Given the description of an element on the screen output the (x, y) to click on. 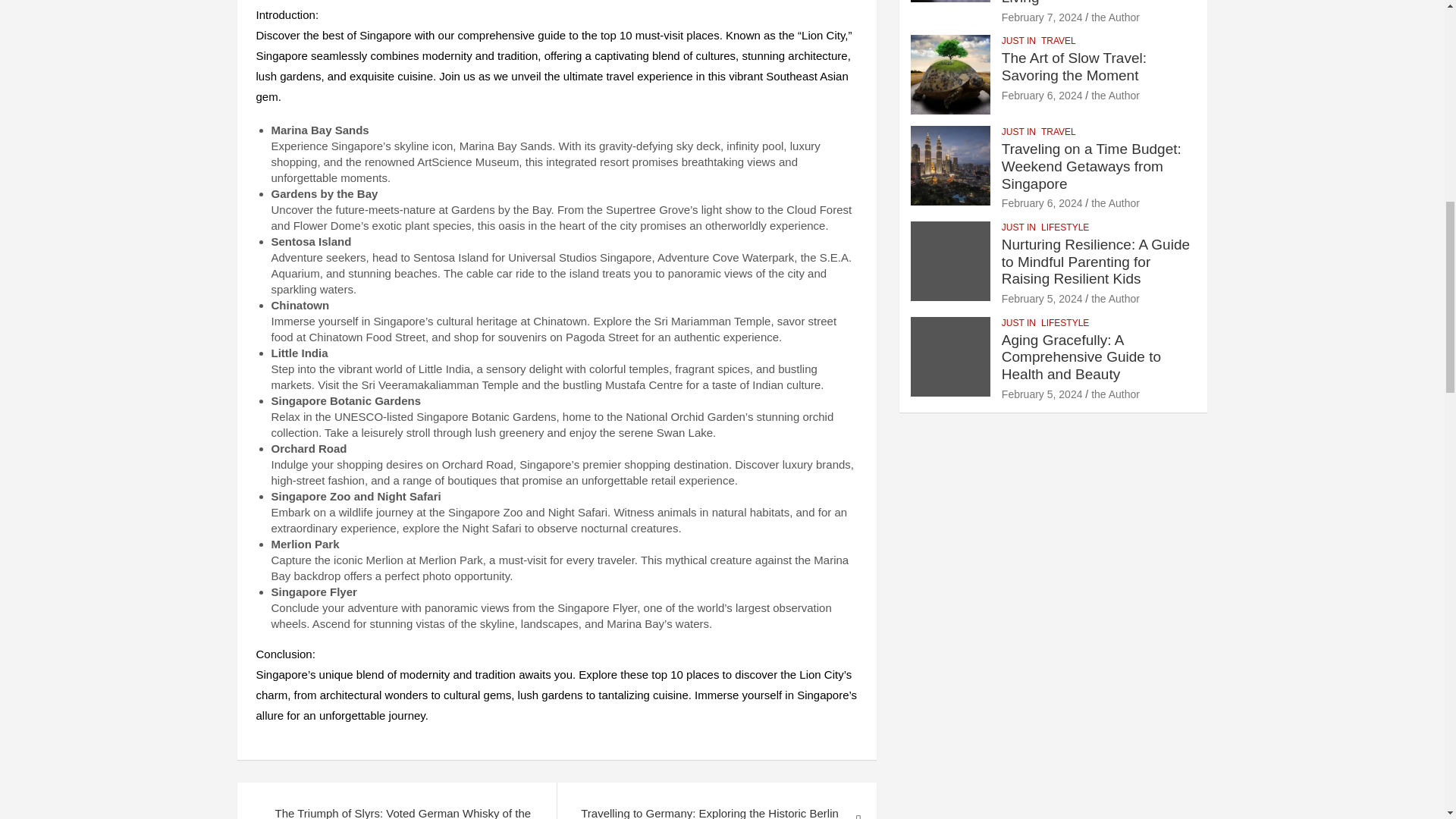
The Art of Slow Travel: Savoring the Moment (1042, 95)
Traveling on a Time Budget: Weekend Getaways from Singapore (1042, 203)
Aging Gracefully: A Comprehensive Guide to Health and Beauty (1042, 394)
Travelling to Germany: Exploring the Historic Berlin Wall (716, 800)
